Given the description of an element on the screen output the (x, y) to click on. 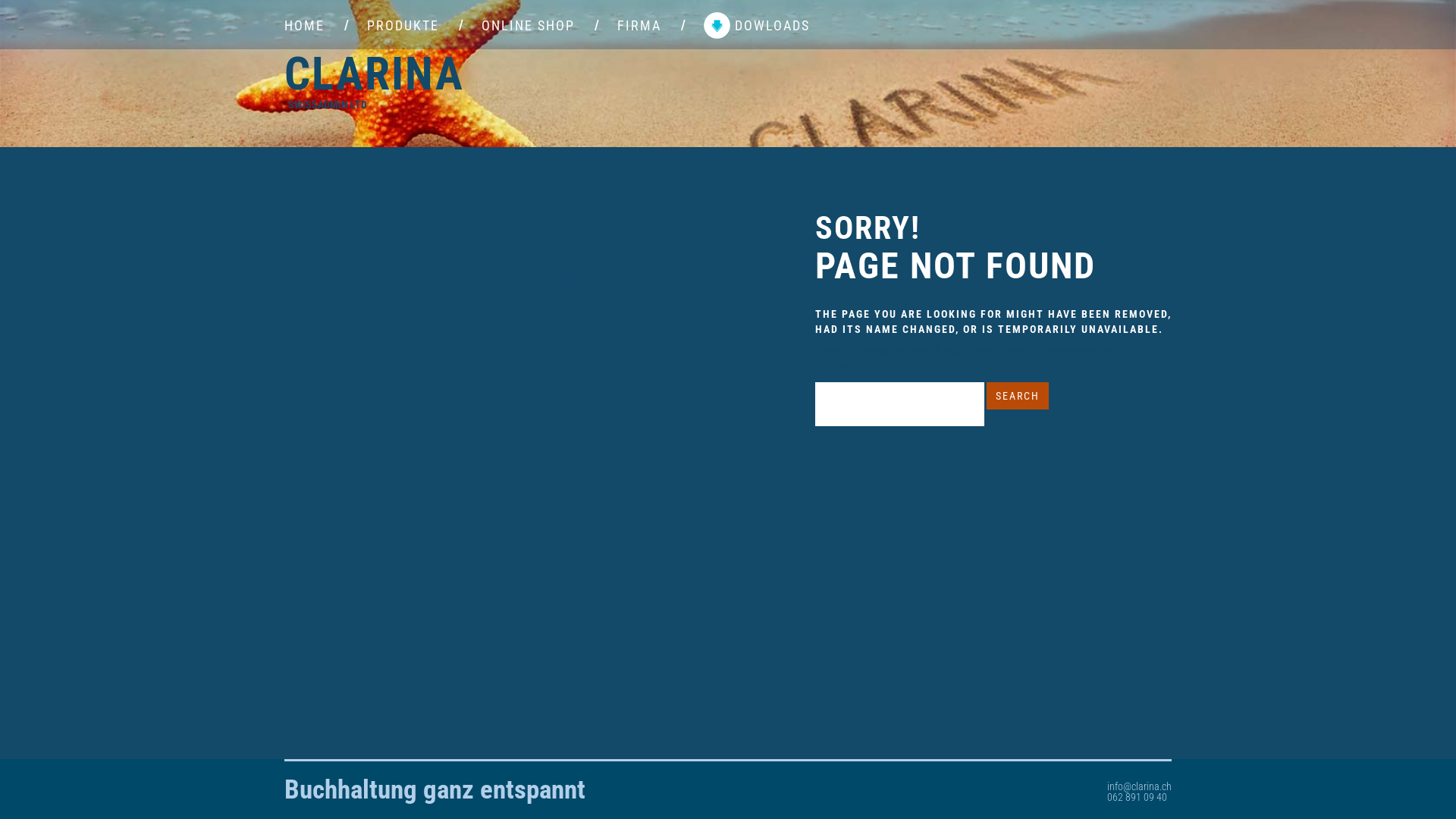
DOWLOADS Element type: text (756, 25)
ONLINE SHOP Element type: text (527, 25)
info@clarina.ch Element type: text (1139, 786)
PRODUKTE Element type: text (403, 25)
FIRMA Element type: text (639, 25)
HOME Element type: text (304, 25)
search Element type: text (1017, 395)
CLARINA Element type: text (374, 73)
